Given the description of an element on the screen output the (x, y) to click on. 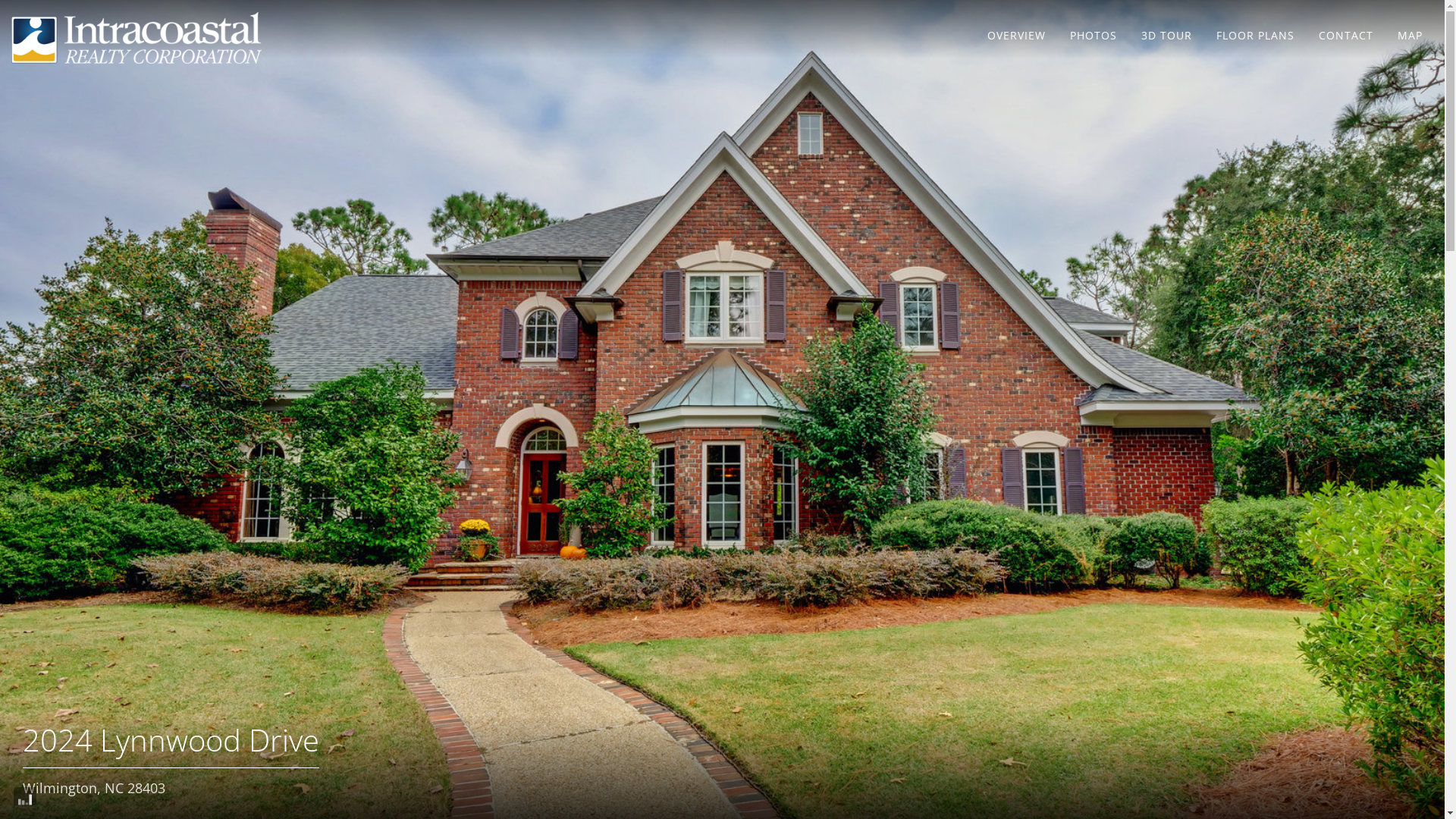
MAP Element type: text (1409, 34)
OVERVIEW Element type: text (1016, 34)
3D TOUR Element type: text (1166, 34)
FLOOR PLANS Element type: text (1255, 34)
CONTACT Element type: text (1345, 34)
PHOTOS Element type: text (1093, 34)
